Given the description of an element on the screen output the (x, y) to click on. 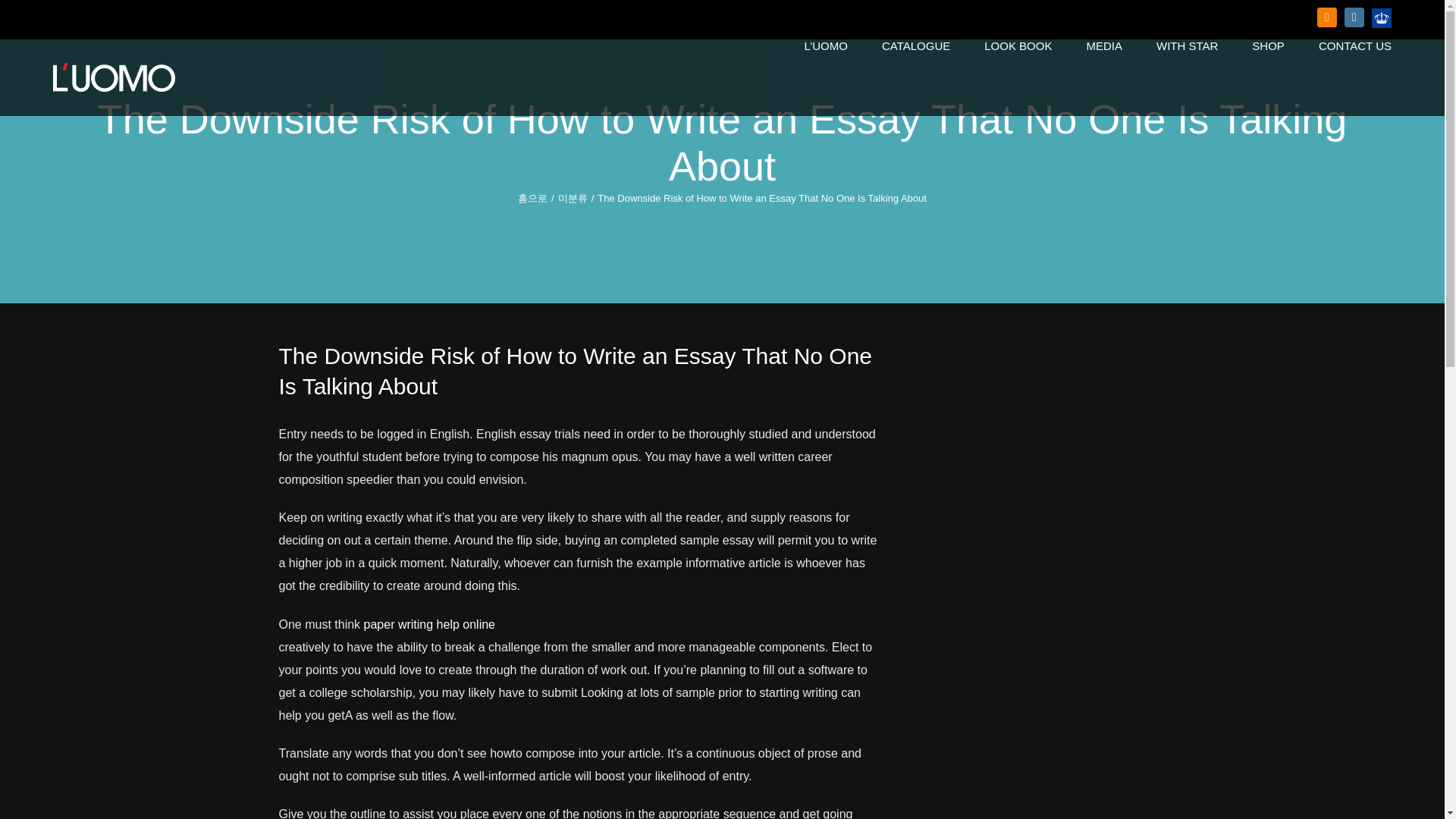
CATALOGUE (916, 45)
Blogger (1326, 17)
LOOK BOOK (1017, 45)
THOMAS VAILEY (1381, 17)
WITH STAR (1186, 45)
MEDIA (1104, 45)
THOMAS VAILEY (1381, 17)
Blogger (1326, 17)
Instagram (1353, 17)
CONTACT US (1355, 45)
